Given the description of an element on the screen output the (x, y) to click on. 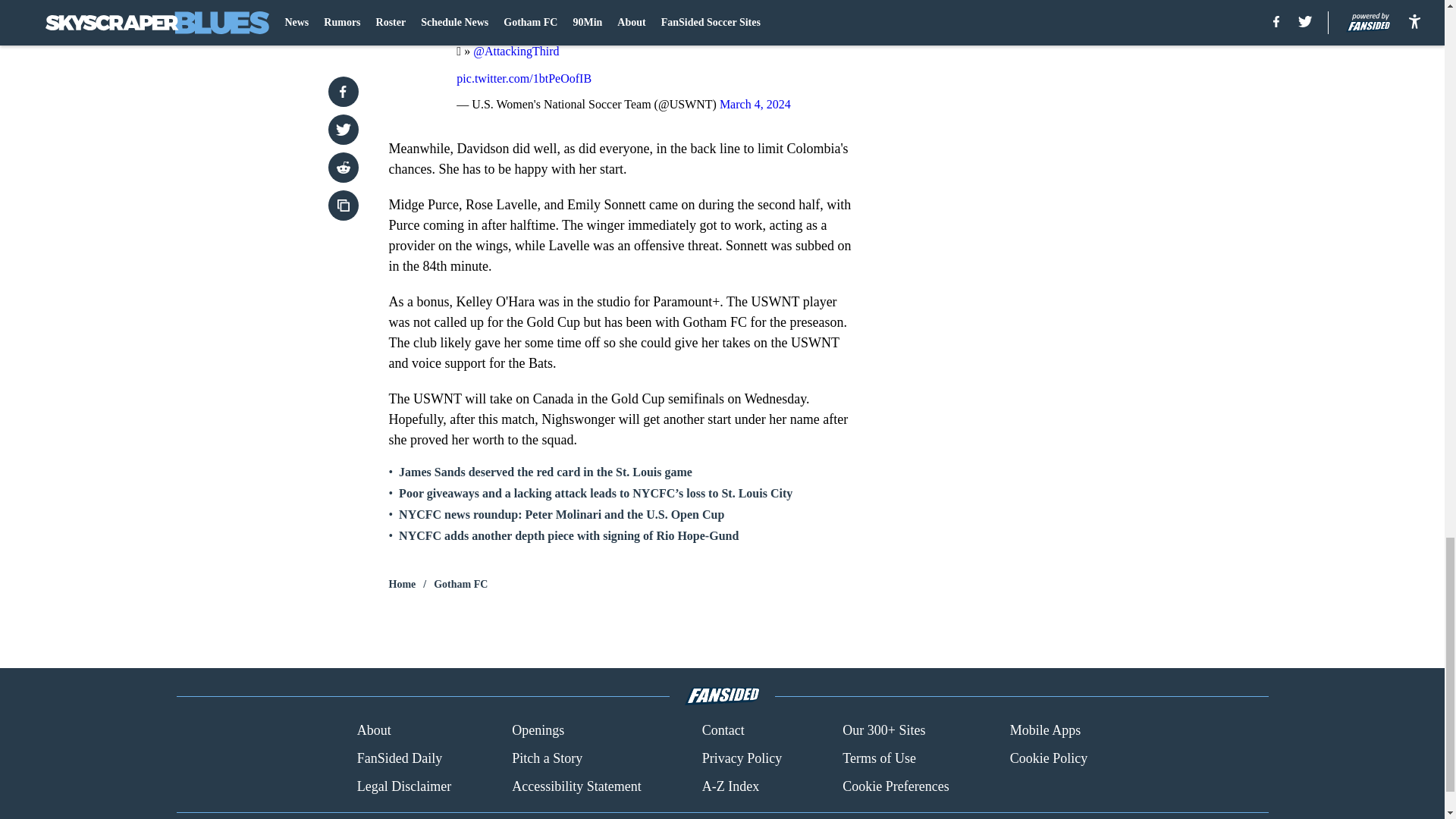
NYCFC adds another depth piece with signing of Rio Hope-Gund (568, 535)
James Sands deserved the red card in the St. Louis game (545, 472)
About (373, 730)
NYCFC news roundup: Peter Molinari and the U.S. Open Cup (560, 514)
Contact (722, 730)
Gotham FC (460, 584)
Openings (538, 730)
March 4, 2024 (754, 103)
Home (401, 584)
